Given the description of an element on the screen output the (x, y) to click on. 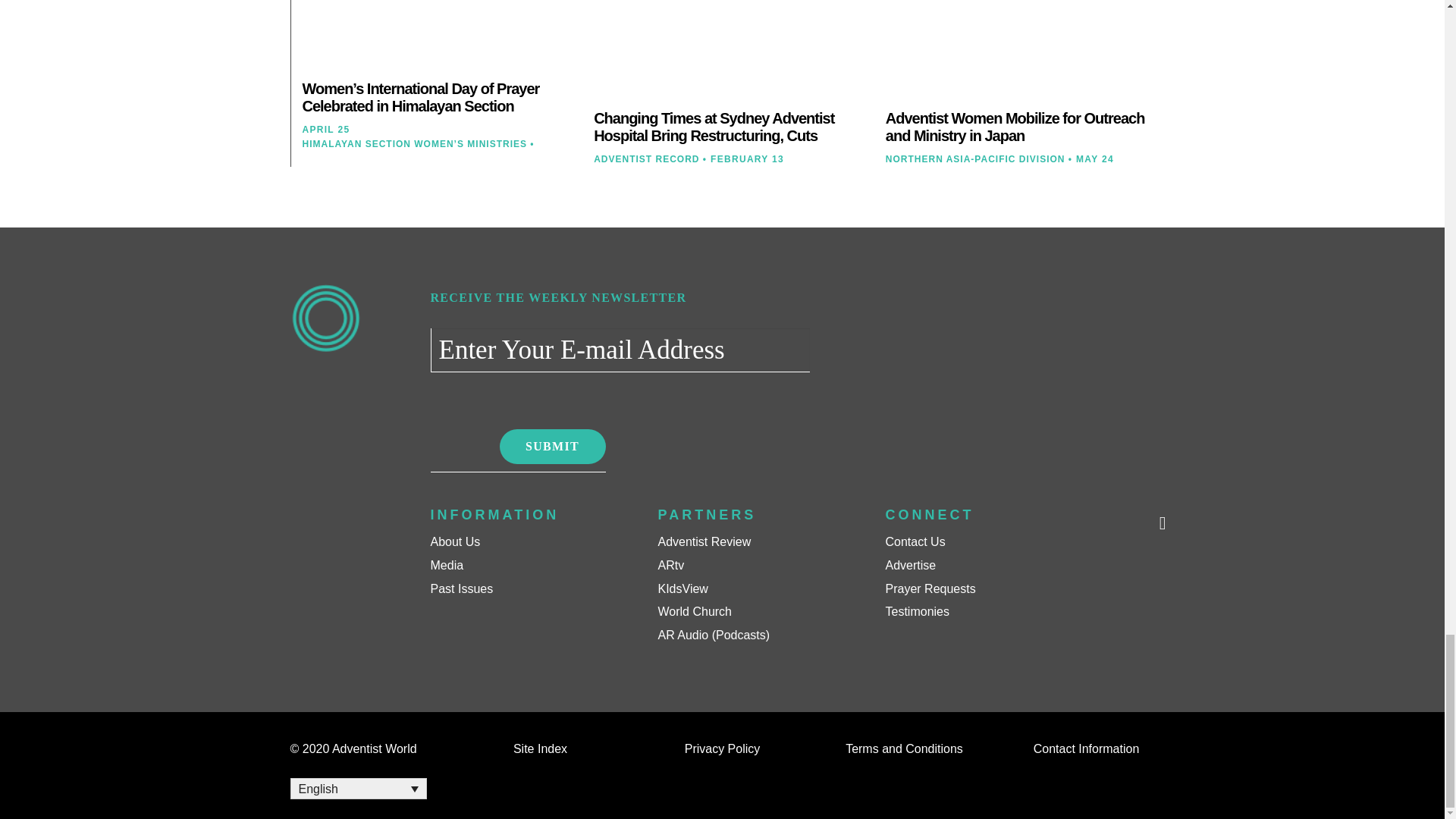
Adventist Women Mobilize for Outreach and Ministry in Japan (1014, 126)
